Given the description of an element on the screen output the (x, y) to click on. 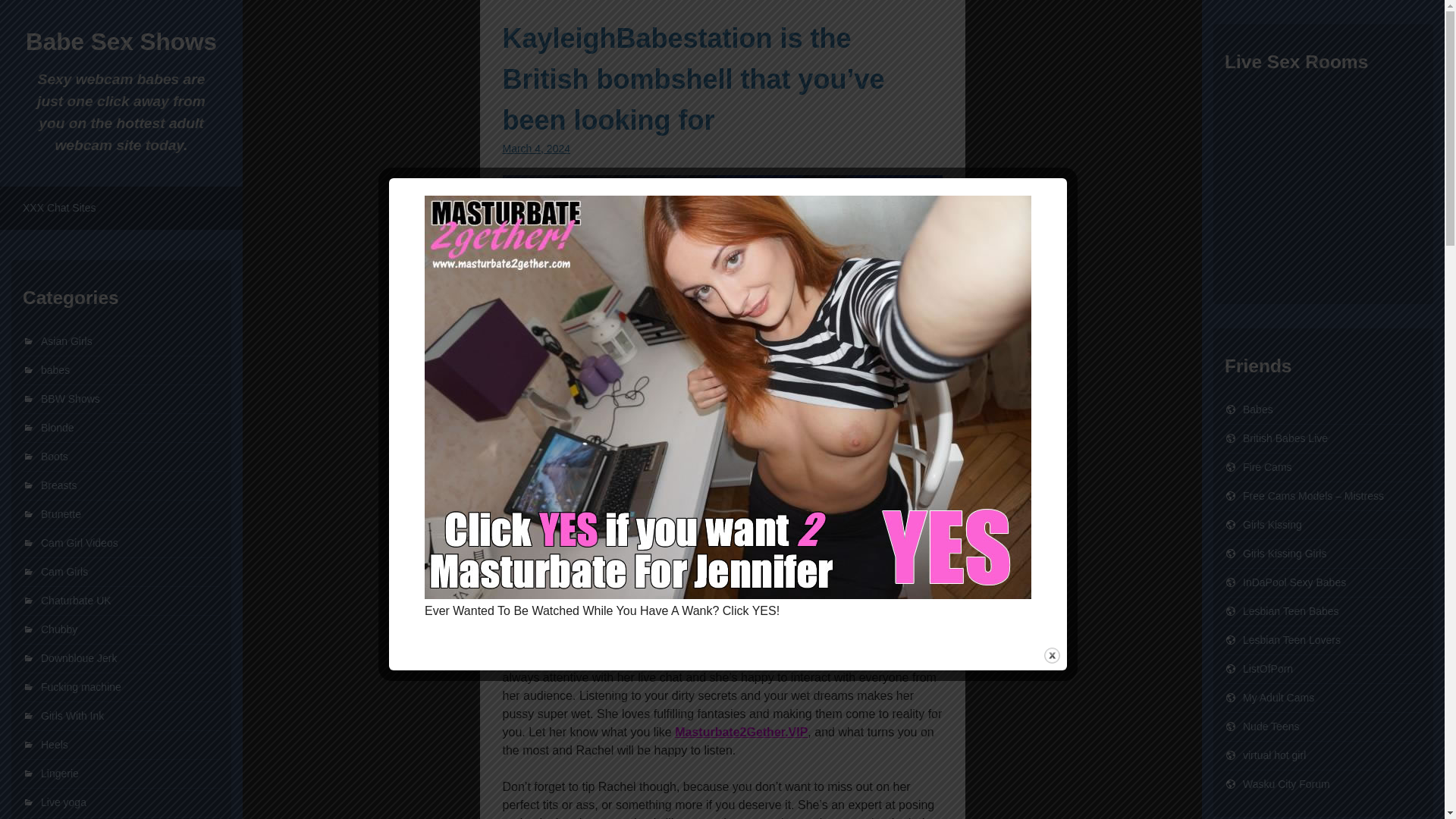
Downbloue Jerk (78, 657)
Live yoga (62, 802)
Babe Sex Shows (121, 41)
BBW Shows (70, 398)
Chaturbate UK (76, 600)
Live Sex Cams (1267, 467)
Blonde (57, 427)
Lingerie (59, 773)
Chubby (58, 629)
Fucking machine (80, 686)
